Given the description of an element on the screen output the (x, y) to click on. 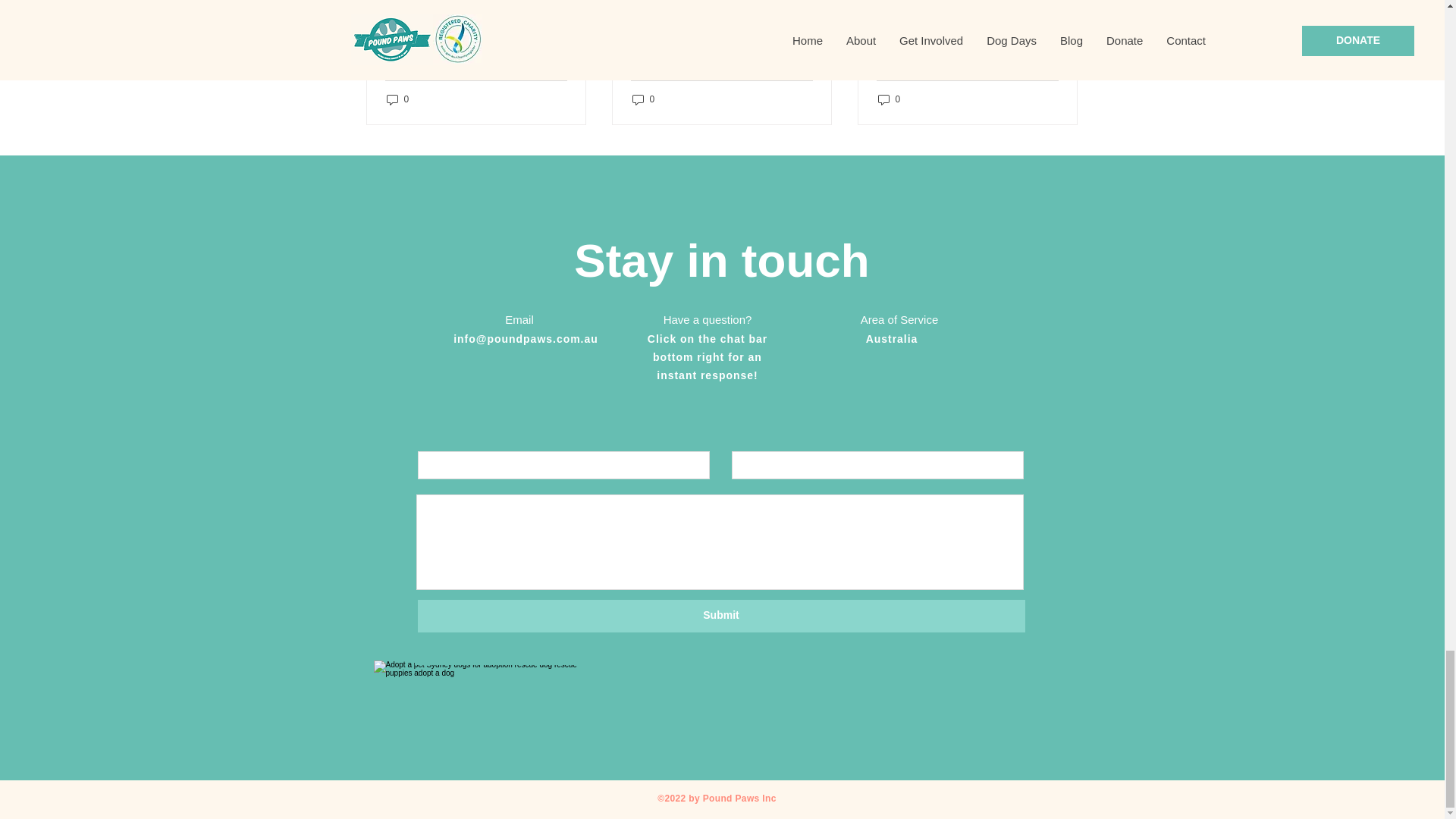
A Guide to Travelling to the UK from Australia with Your Dog (967, 46)
0 (397, 99)
0 (643, 99)
0 (889, 99)
Submit (720, 615)
